Given the description of an element on the screen output the (x, y) to click on. 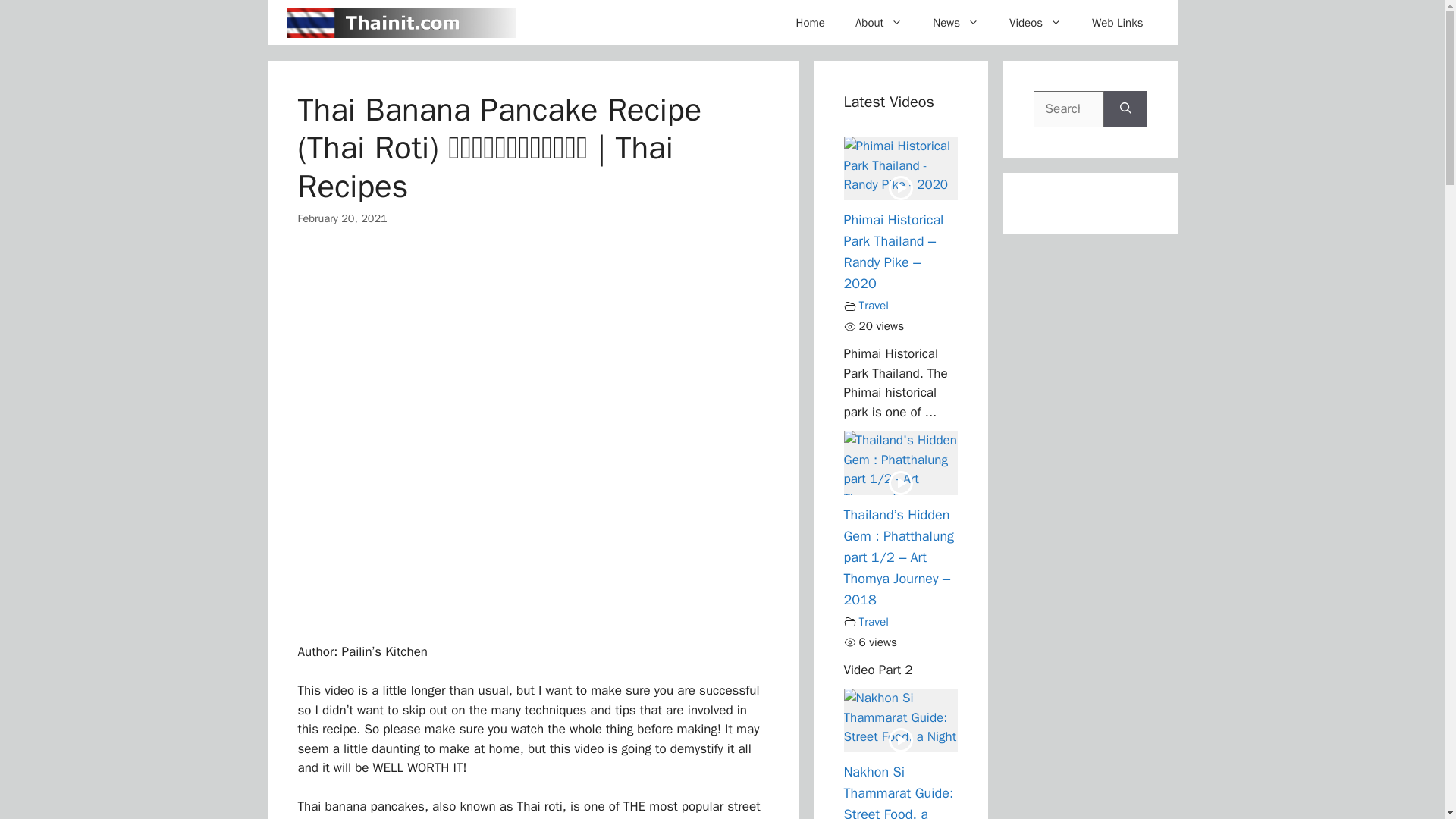
Search for: (1067, 108)
Videos (1035, 22)
Web Links (1117, 22)
News (955, 22)
About (878, 22)
Thainit.com (401, 22)
Home (810, 22)
